Given the description of an element on the screen output the (x, y) to click on. 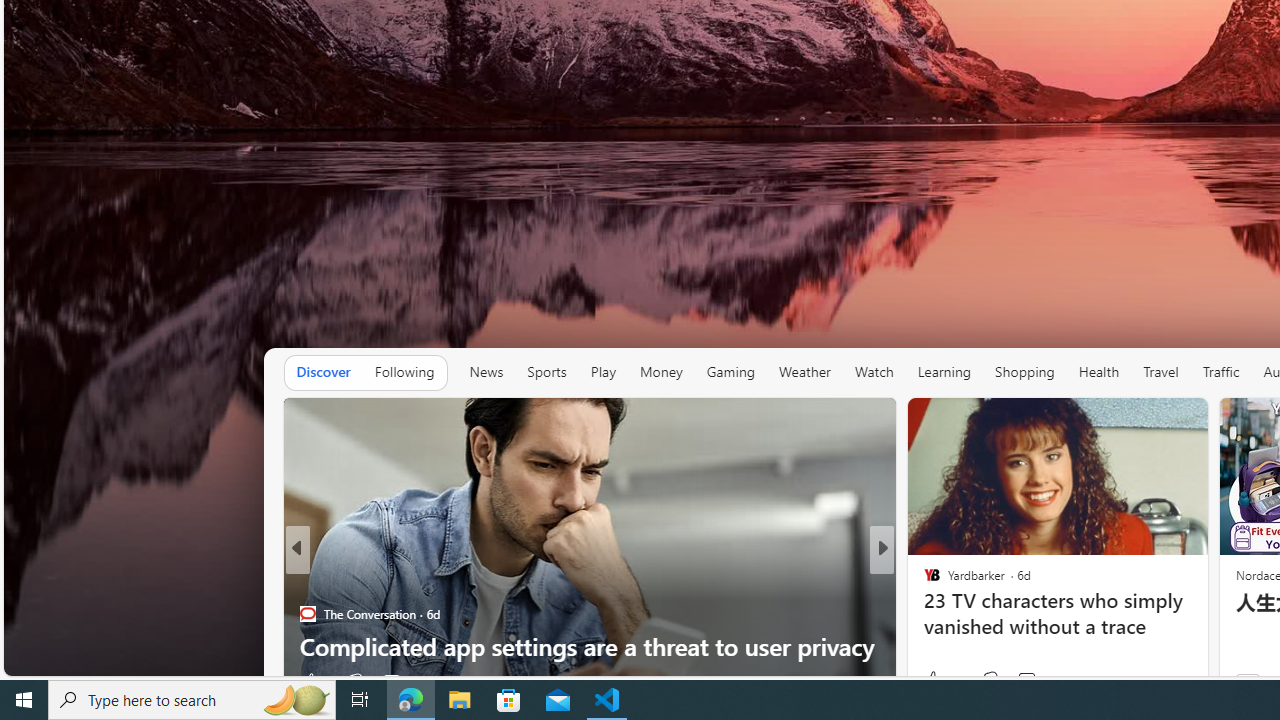
43 Like (934, 681)
315 Like (936, 681)
Complicated app settings are a threat to user privacy (589, 645)
View comments 7 Comment (1026, 681)
Dislike (989, 680)
Travel (1160, 371)
View comments 16 Comment (1014, 681)
View comments 46 Comment (1035, 680)
Metro (923, 581)
View comments 7 Comment (1019, 681)
Play (602, 371)
47 Like (934, 681)
Play (603, 372)
